Given the description of an element on the screen output the (x, y) to click on. 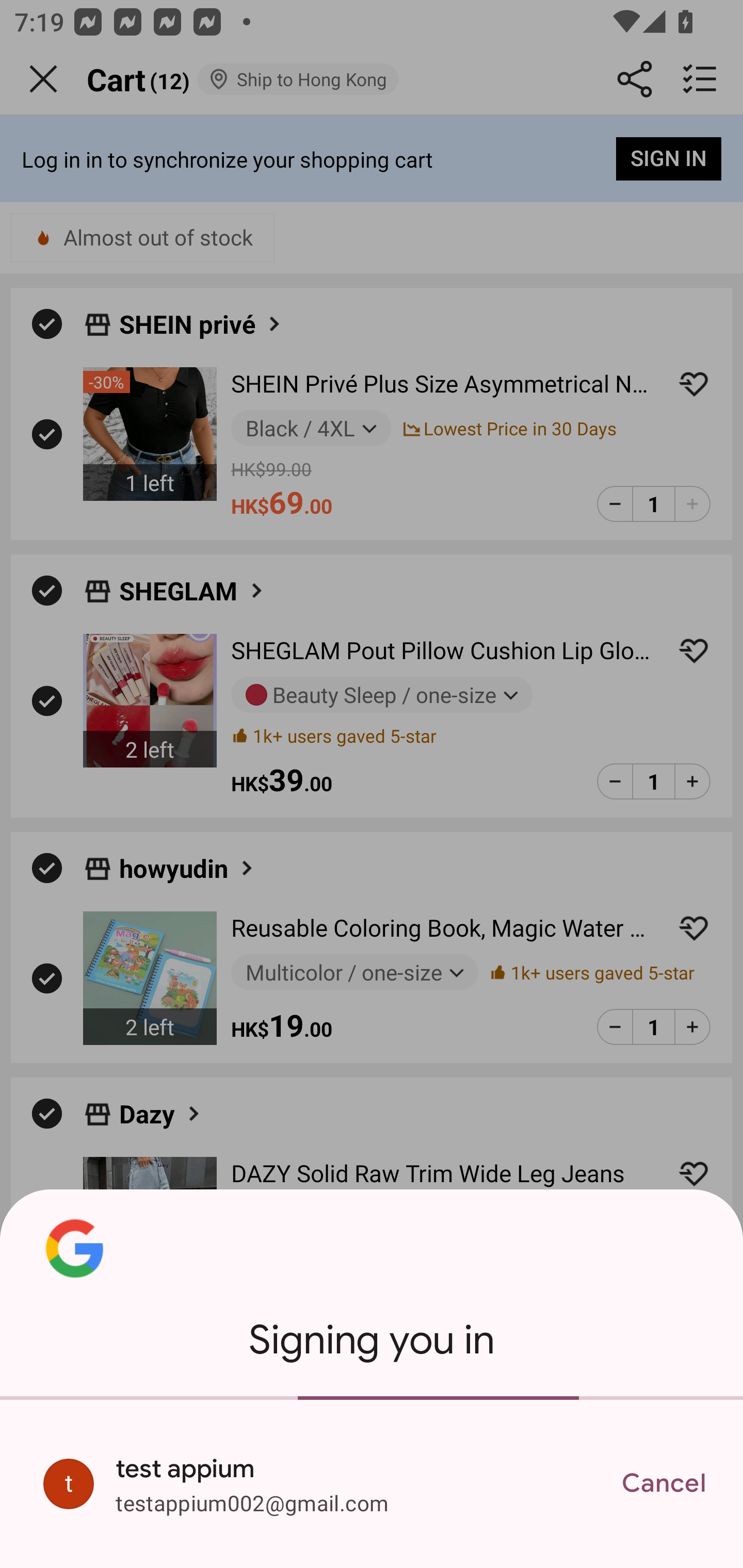
Cancel (663, 1483)
